Given the description of an element on the screen output the (x, y) to click on. 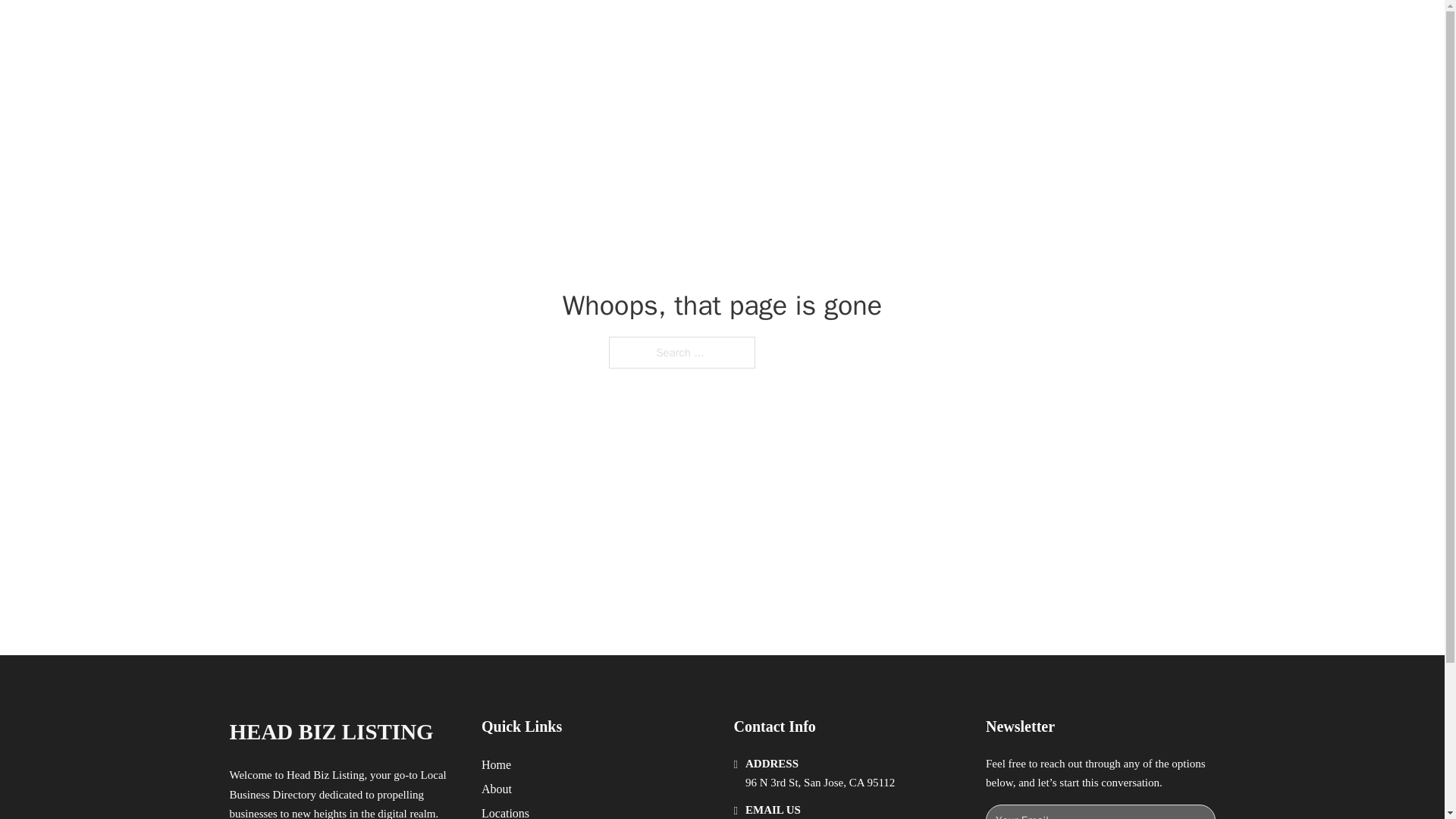
HEAD BIZ LISTING (330, 732)
Home (496, 764)
About (496, 788)
Locations (505, 811)
HOME (919, 29)
LOCATIONS (990, 29)
HEAD BIZ LISTING (400, 28)
